Given the description of an element on the screen output the (x, y) to click on. 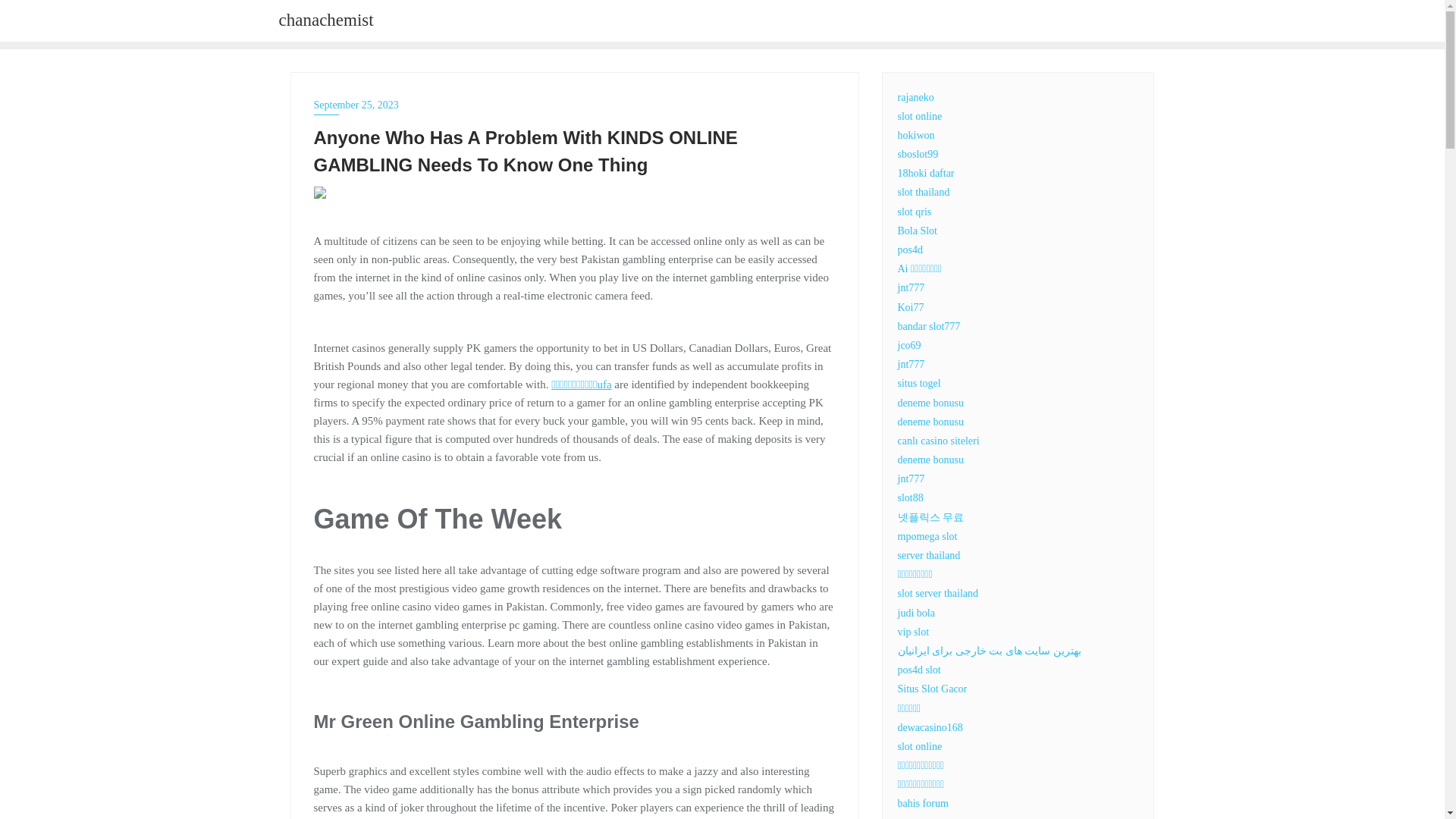
slot thailand (924, 192)
server thailand (929, 555)
slot88 (910, 497)
slot server thailand (938, 593)
slot online (920, 116)
jnt777 (911, 287)
rajaneko (916, 96)
jnt777 (911, 364)
mpomega slot (928, 536)
bandar slot777 (929, 326)
Koi77 (911, 307)
chanachemist (326, 20)
situs togel (919, 383)
Bola Slot (917, 230)
sboslot99 (918, 153)
